Given the description of an element on the screen output the (x, y) to click on. 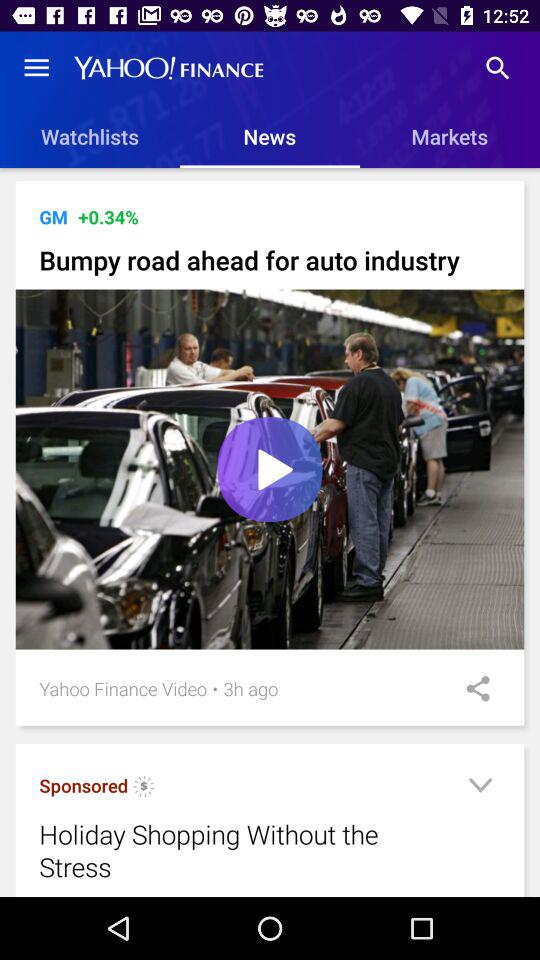
turn off item to the left of the +0.34% icon (53, 216)
